Given the description of an element on the screen output the (x, y) to click on. 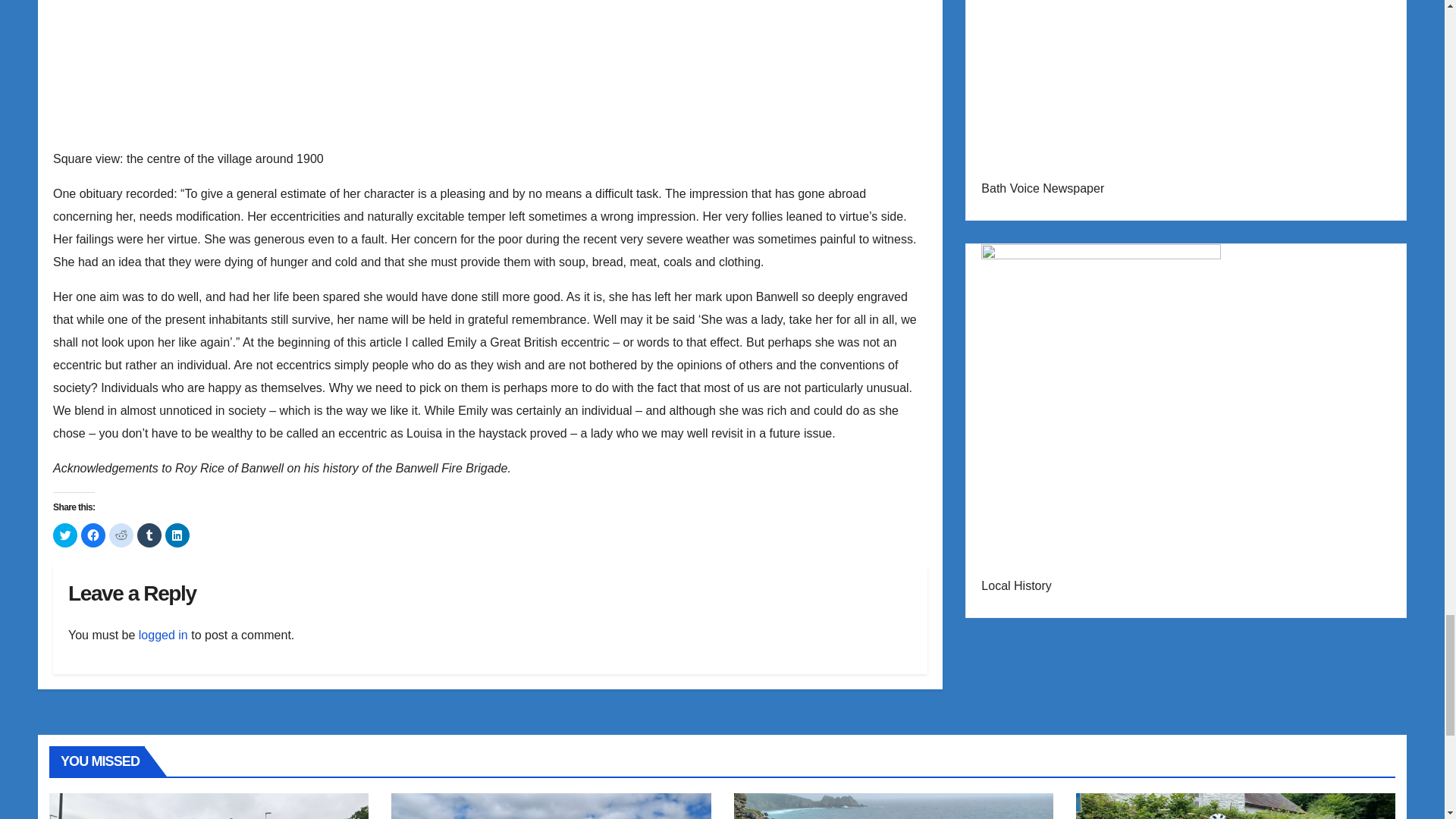
Click to share on Tumblr (148, 535)
Click to share on Twitter (64, 535)
Click to share on LinkedIn (177, 535)
Click to share on Reddit (121, 535)
Click to share on Facebook (92, 535)
